Given the description of an element on the screen output the (x, y) to click on. 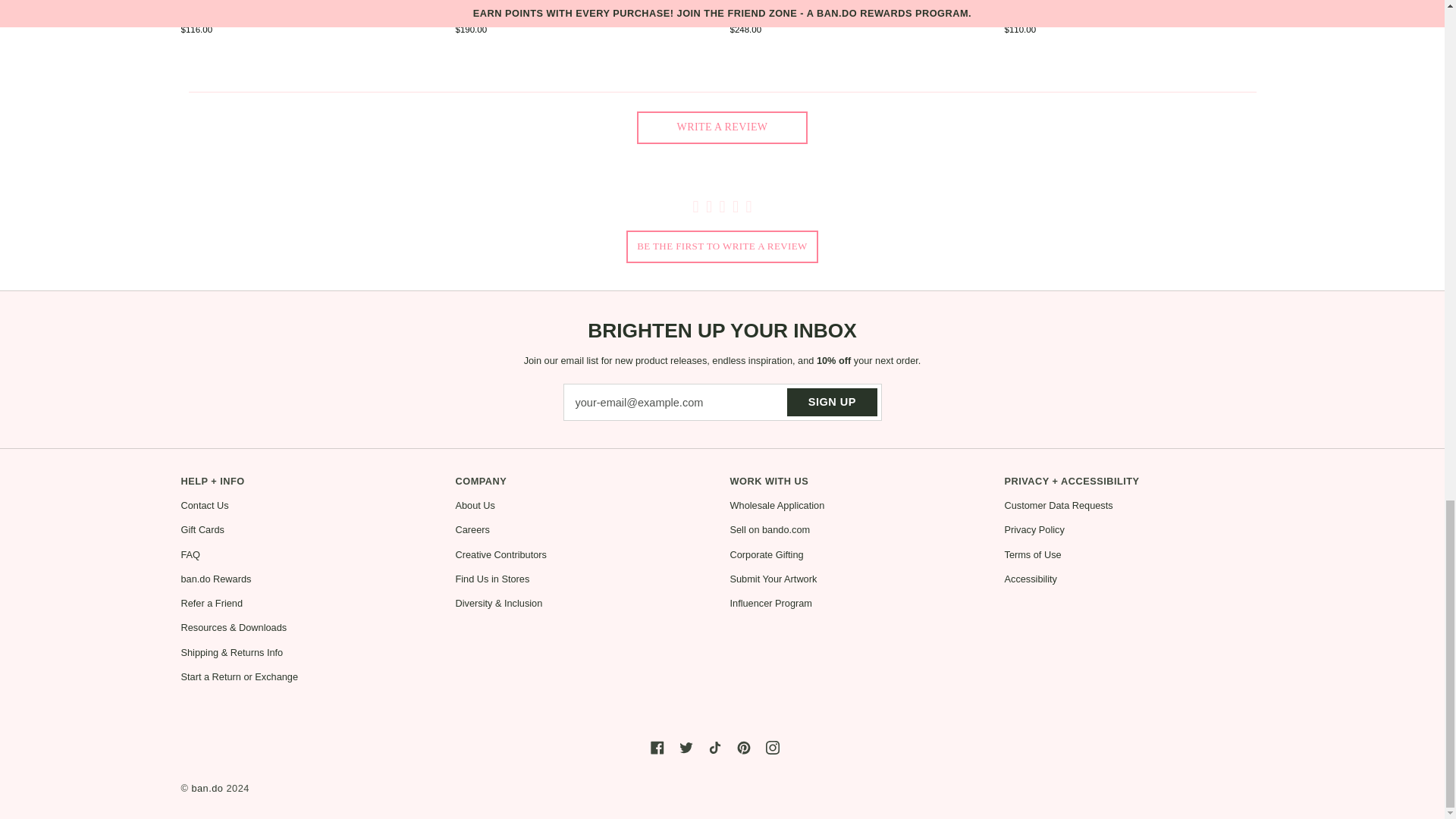
be the first to write a review (722, 246)
Pinterest (743, 734)
Twitter (686, 734)
Tiktok (714, 734)
Facebook (656, 734)
Instagram (771, 734)
